Given the description of an element on the screen output the (x, y) to click on. 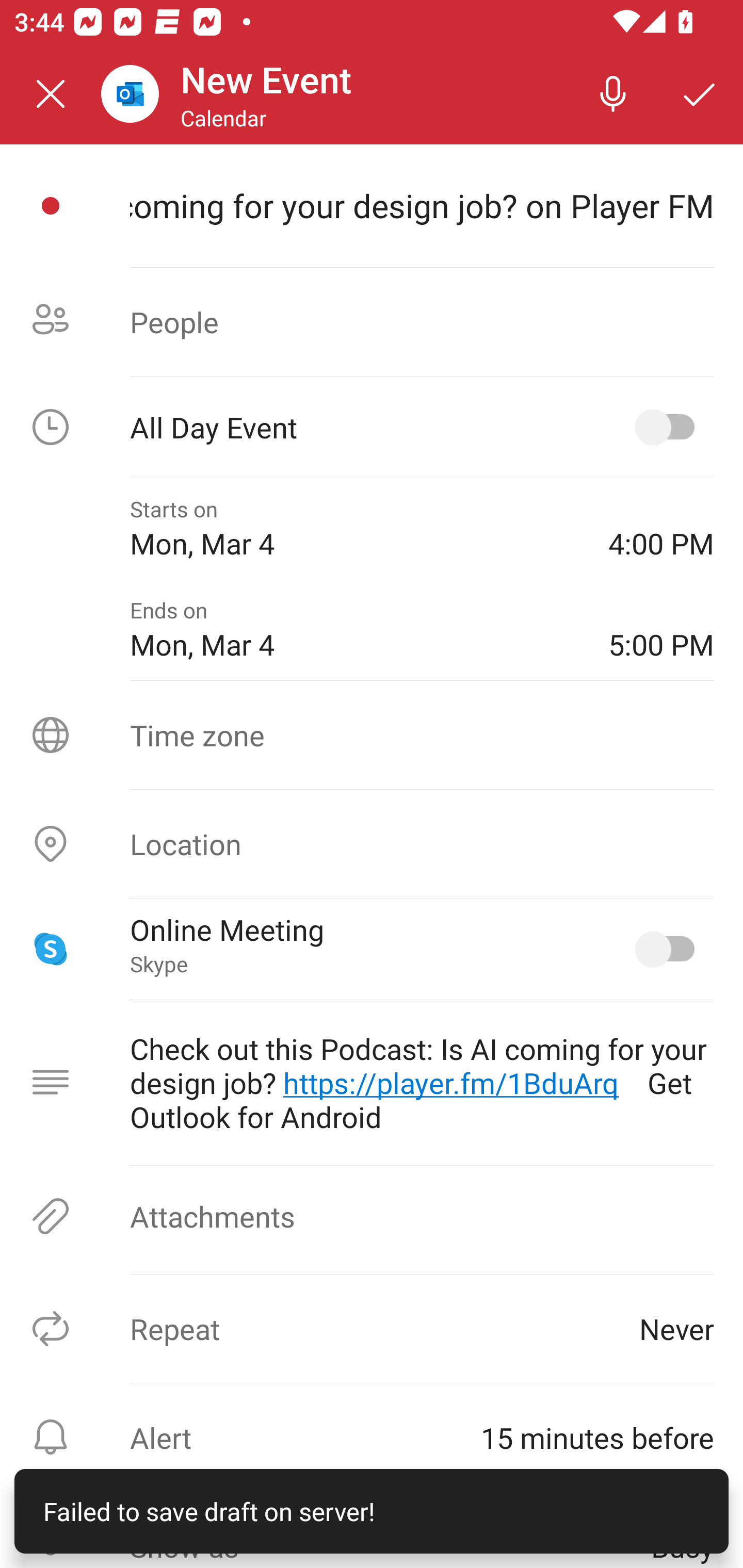
Close (50, 93)
Save (699, 93)
Is AI coming for your design job? on Player FM (422, 205)
Event icon picker (50, 206)
People (371, 322)
All Day Event (371, 427)
Starts on Mon, Mar 4 (354, 528)
4:00 PM (660, 528)
Ends on Mon, Mar 4 (354, 629)
5:00 PM (660, 629)
Time zone (371, 734)
Location (371, 844)
Online Meeting, Skype selected (669, 949)
Attachments (371, 1215)
Repeat Never (371, 1328)
Alert ⁨15 minutes before (371, 1436)
